Given the description of an element on the screen output the (x, y) to click on. 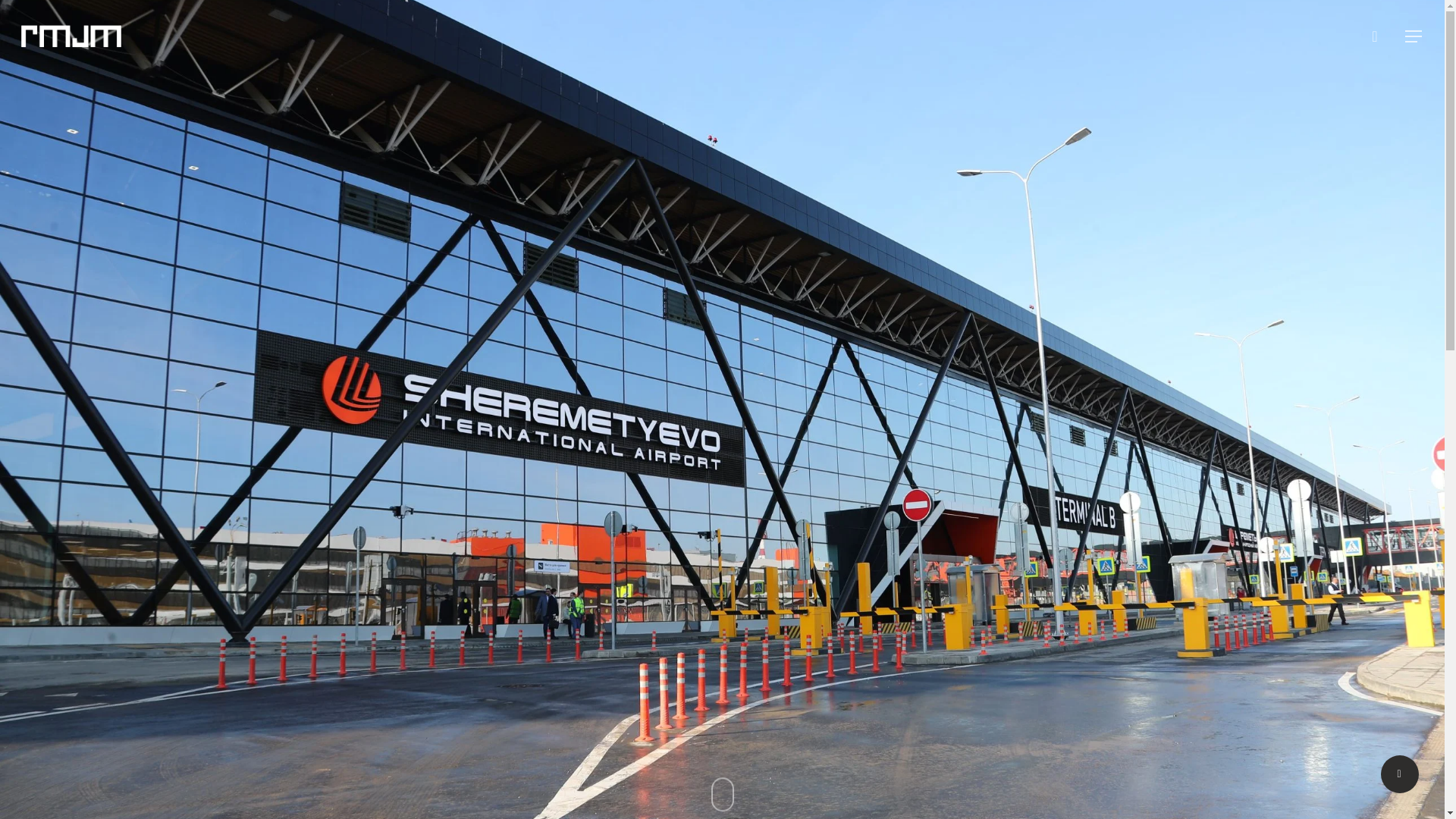
Menu (1415, 7)
search (1374, 36)
Menu (1414, 36)
